Given the description of an element on the screen output the (x, y) to click on. 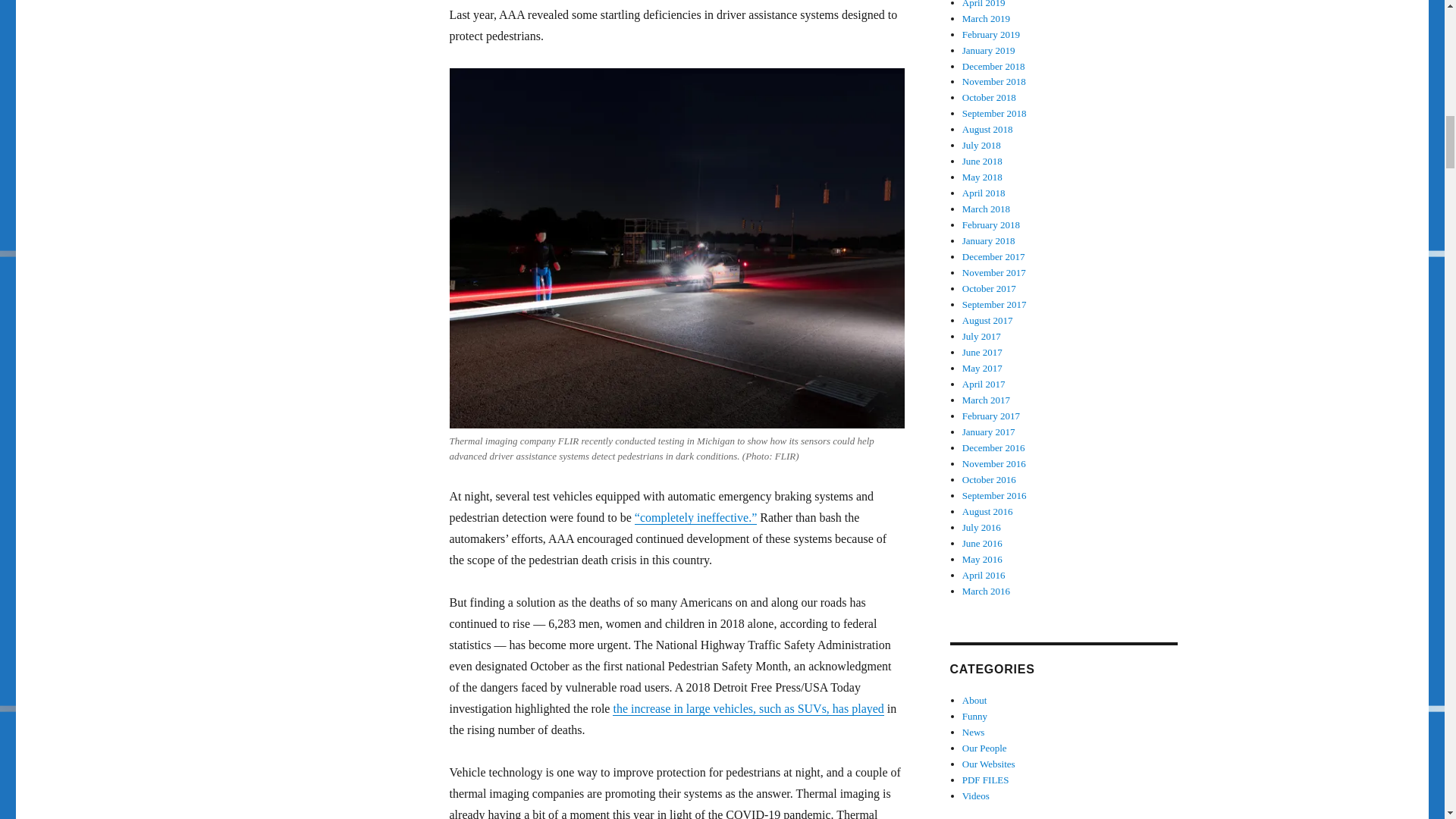
the increase in large vehicles, such as SUVs, has played (747, 707)
The Ron Westphal Chevrolet Websites. (988, 763)
Items of a humorous nature.  We love it when you smile. (974, 715)
